Given the description of an element on the screen output the (x, y) to click on. 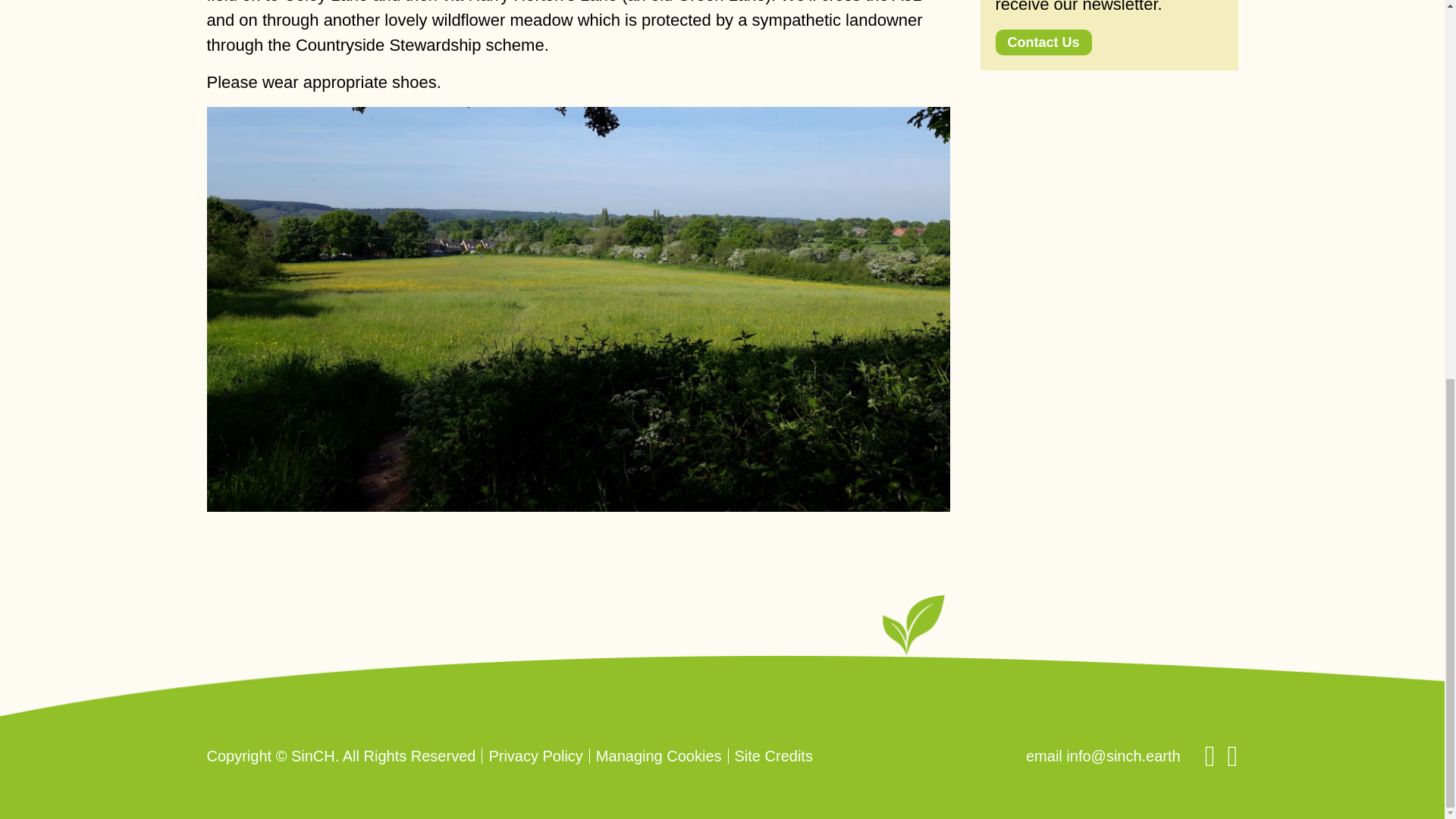
Managing Cookies (658, 755)
Privacy Policy (534, 755)
Contact Us (1042, 41)
Site Credits (773, 755)
